Given the description of an element on the screen output the (x, y) to click on. 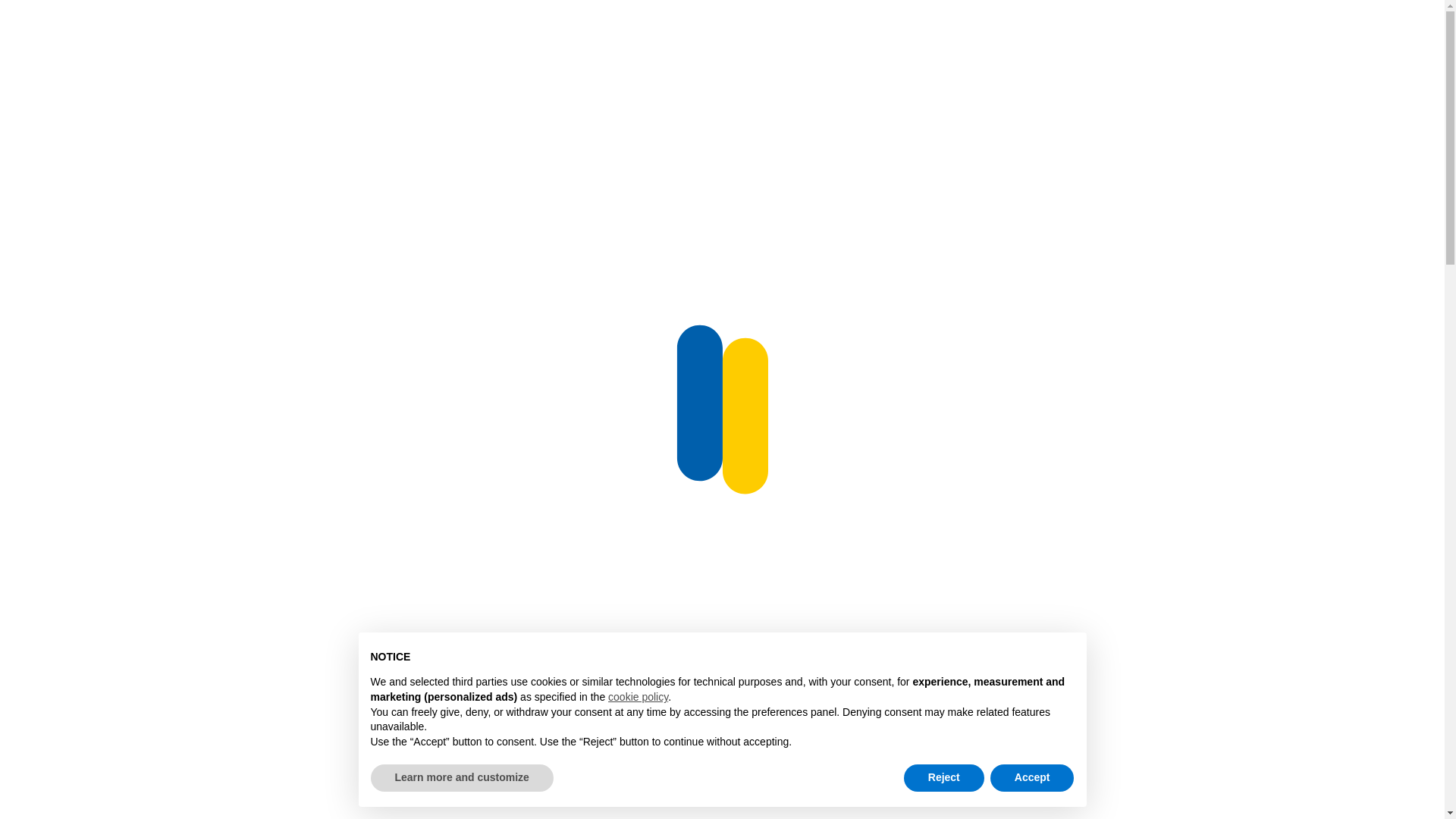
Company (704, 30)
APPLICATIONS (513, 30)
MYPALAZZOLI (1239, 30)
CONTACTS (794, 30)
ESP (1373, 30)
ITA (1414, 30)
Services (618, 30)
Products (406, 30)
Applications (513, 30)
ENG (1329, 30)
